Given the description of an element on the screen output the (x, y) to click on. 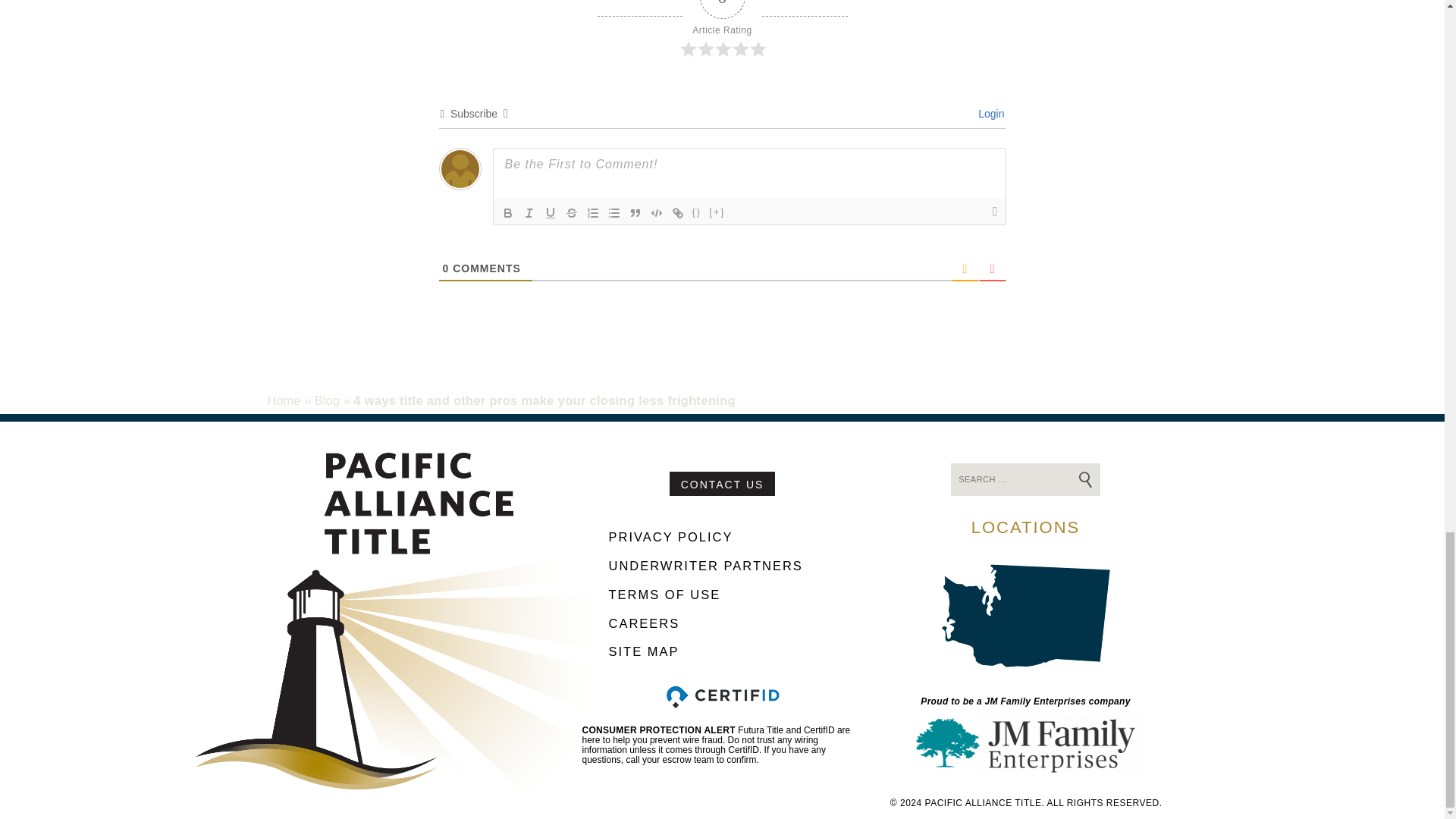
Unordered List (614, 212)
Source Code (697, 212)
Blockquote (635, 212)
Code Block (656, 212)
Strike (571, 212)
Bold (507, 212)
Spoiler (716, 212)
Ordered List (593, 212)
Underline (550, 212)
Link (677, 212)
Italic (529, 212)
